Given the description of an element on the screen output the (x, y) to click on. 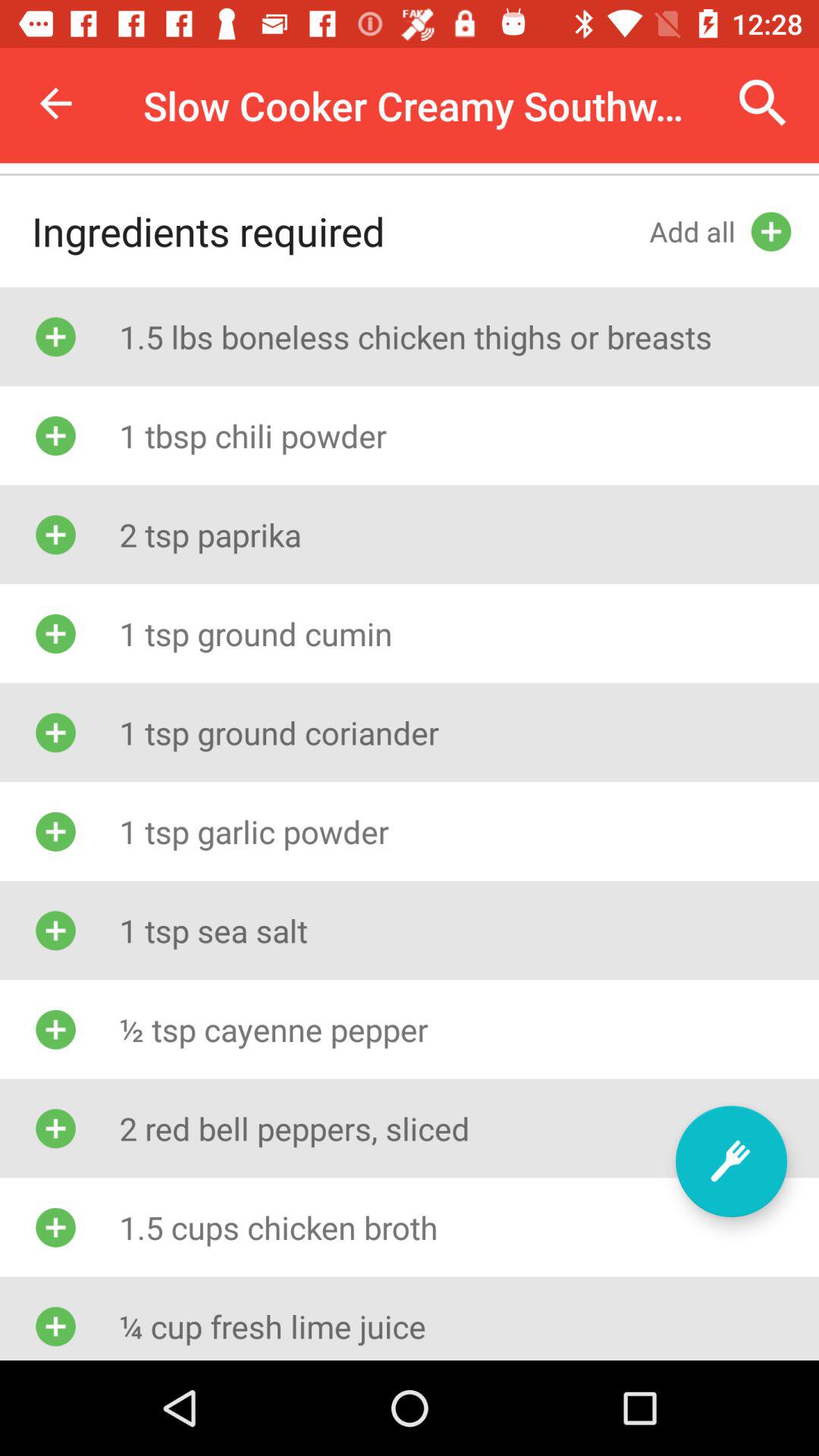
turn off icon above the ingredients required item (55, 103)
